Given the description of an element on the screen output the (x, y) to click on. 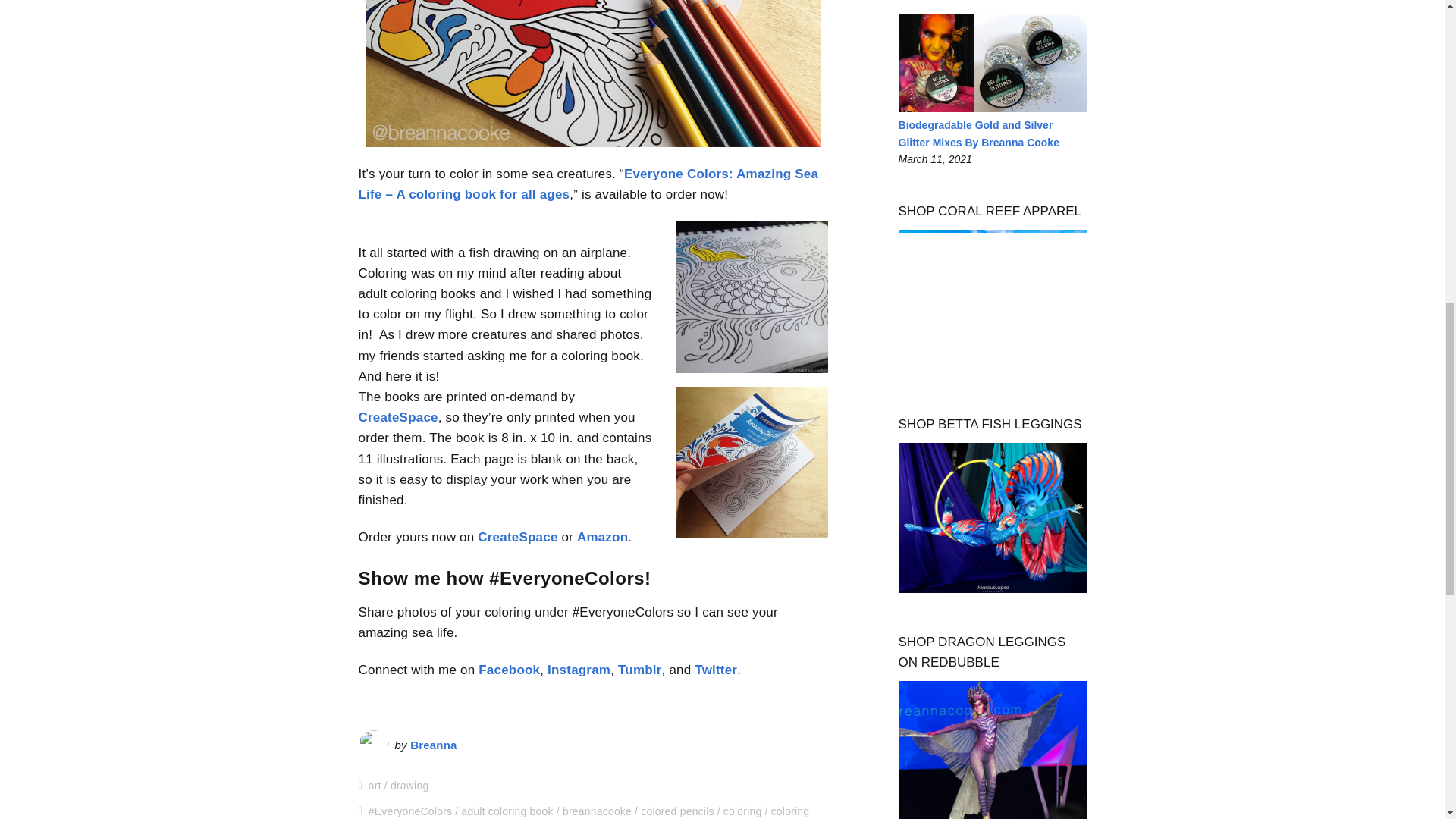
Everyone Colors: Amazing Sea Life on CreateSpace.com (398, 417)
Everyone Colors: Amazing Sea Life on CreateSpace.com (588, 184)
CreateSpace (398, 417)
